Given the description of an element on the screen output the (x, y) to click on. 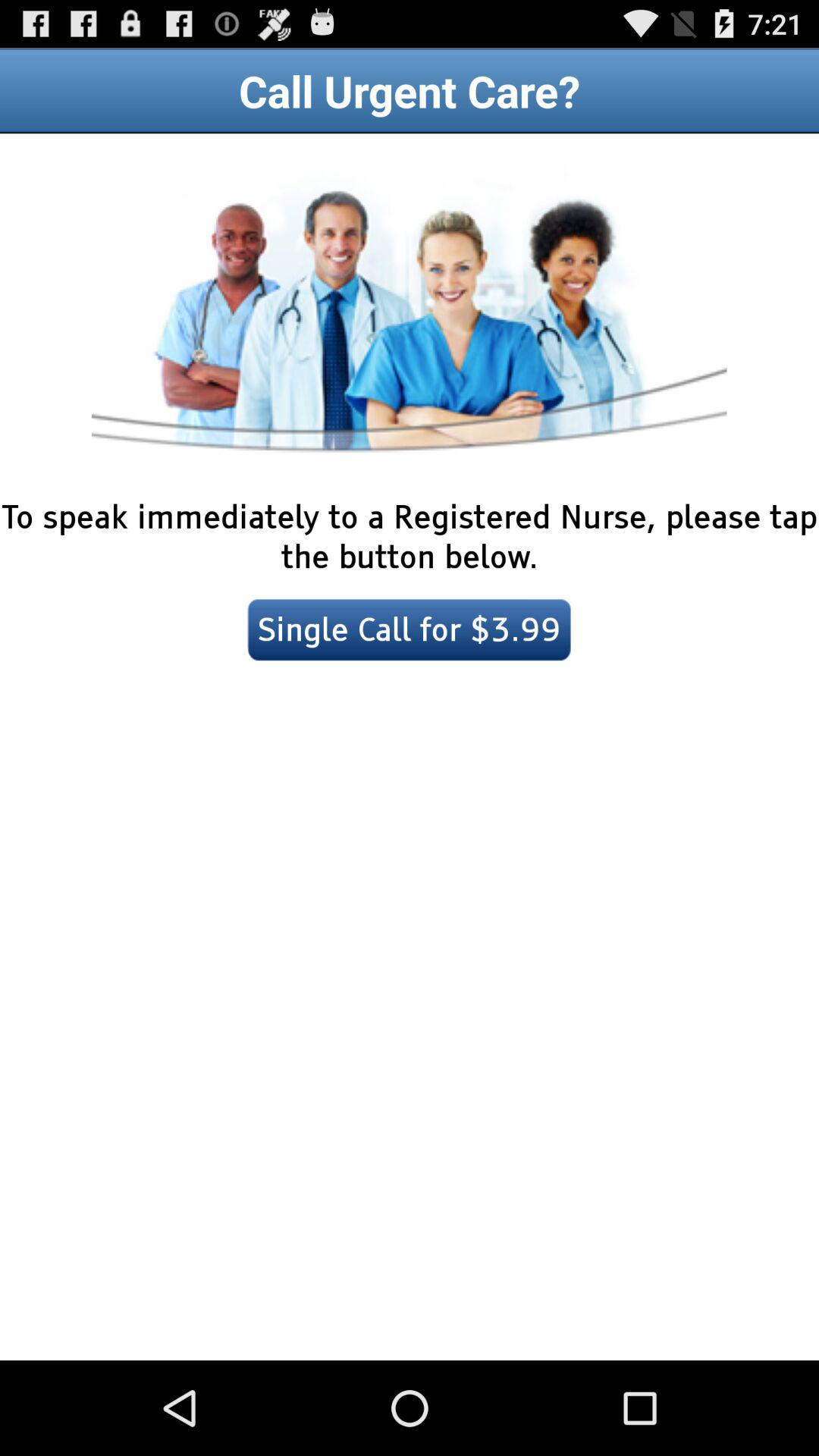
turn on icon below to speak immediately (409, 629)
